Given the description of an element on the screen output the (x, y) to click on. 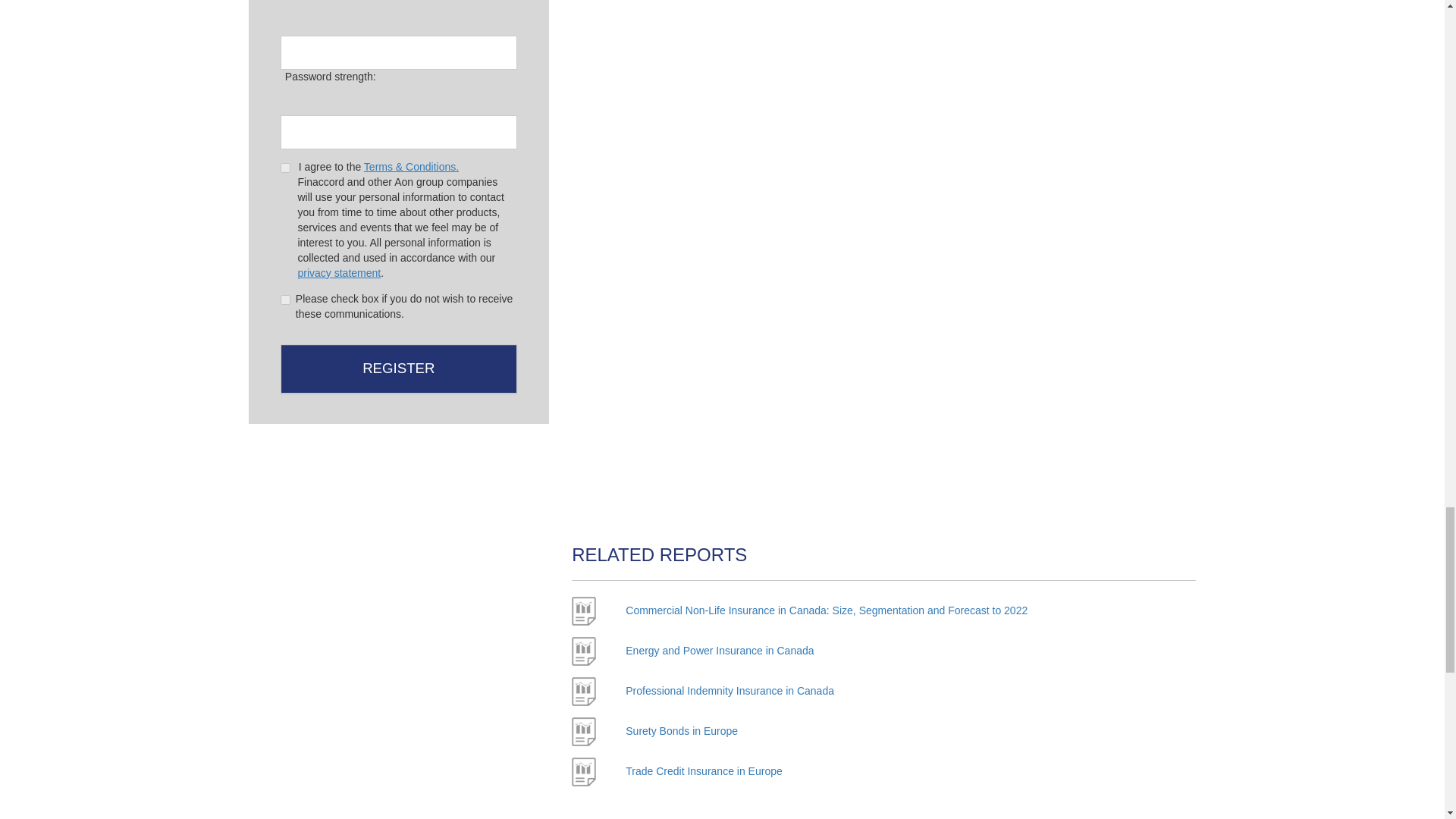
Energy and Power Insurance in Canada (719, 650)
Surety Bonds in Europe (682, 730)
on (285, 299)
Trade Credit Insurance in Europe (703, 770)
on (285, 167)
privacy statement (338, 272)
Professional Indemnity Insurance in Canada (730, 690)
Register (398, 368)
Register (398, 368)
